Given the description of an element on the screen output the (x, y) to click on. 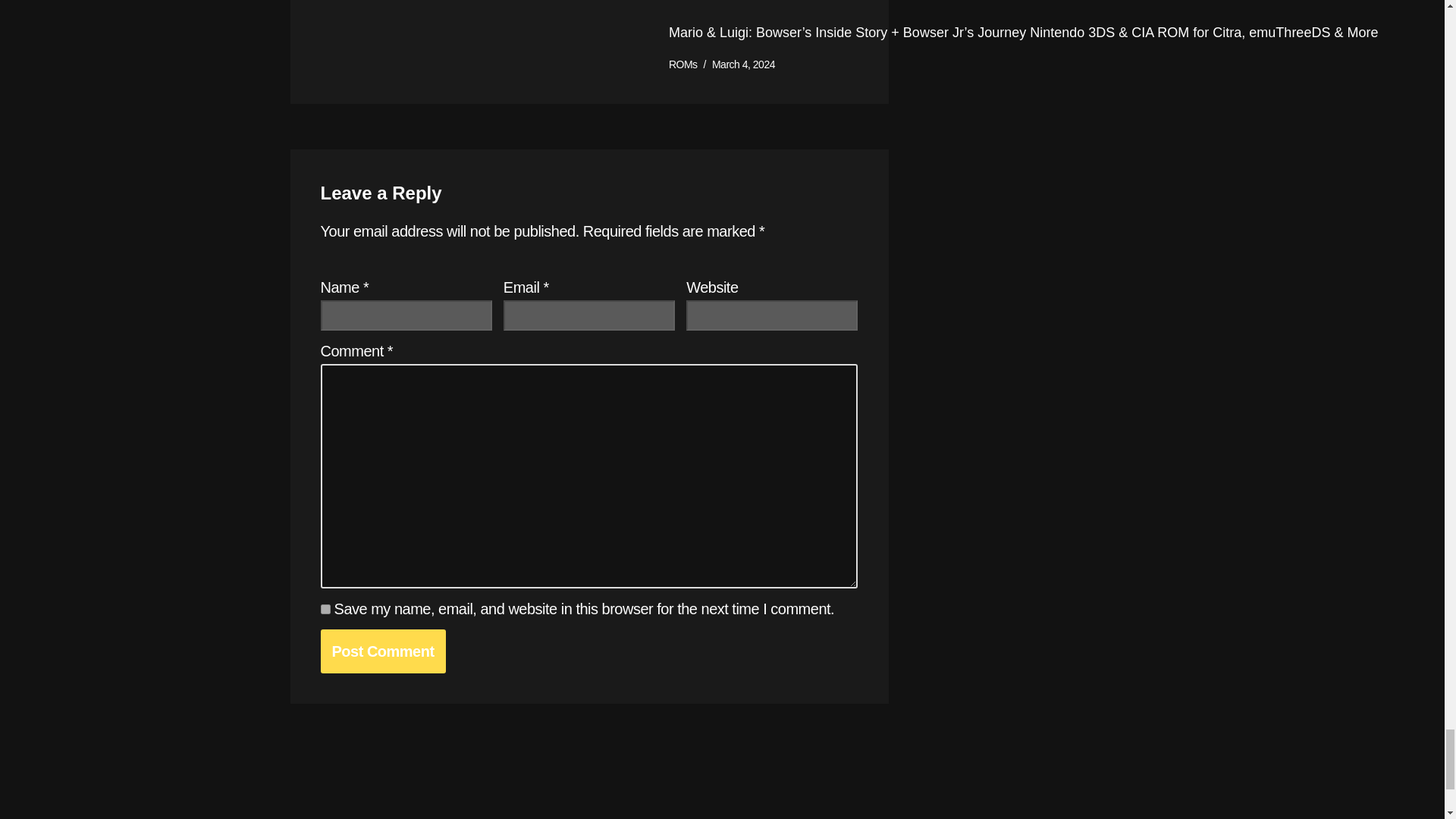
Post Comment (382, 651)
yes (325, 609)
Post Comment (382, 651)
ROMs (682, 64)
